Given the description of an element on the screen output the (x, y) to click on. 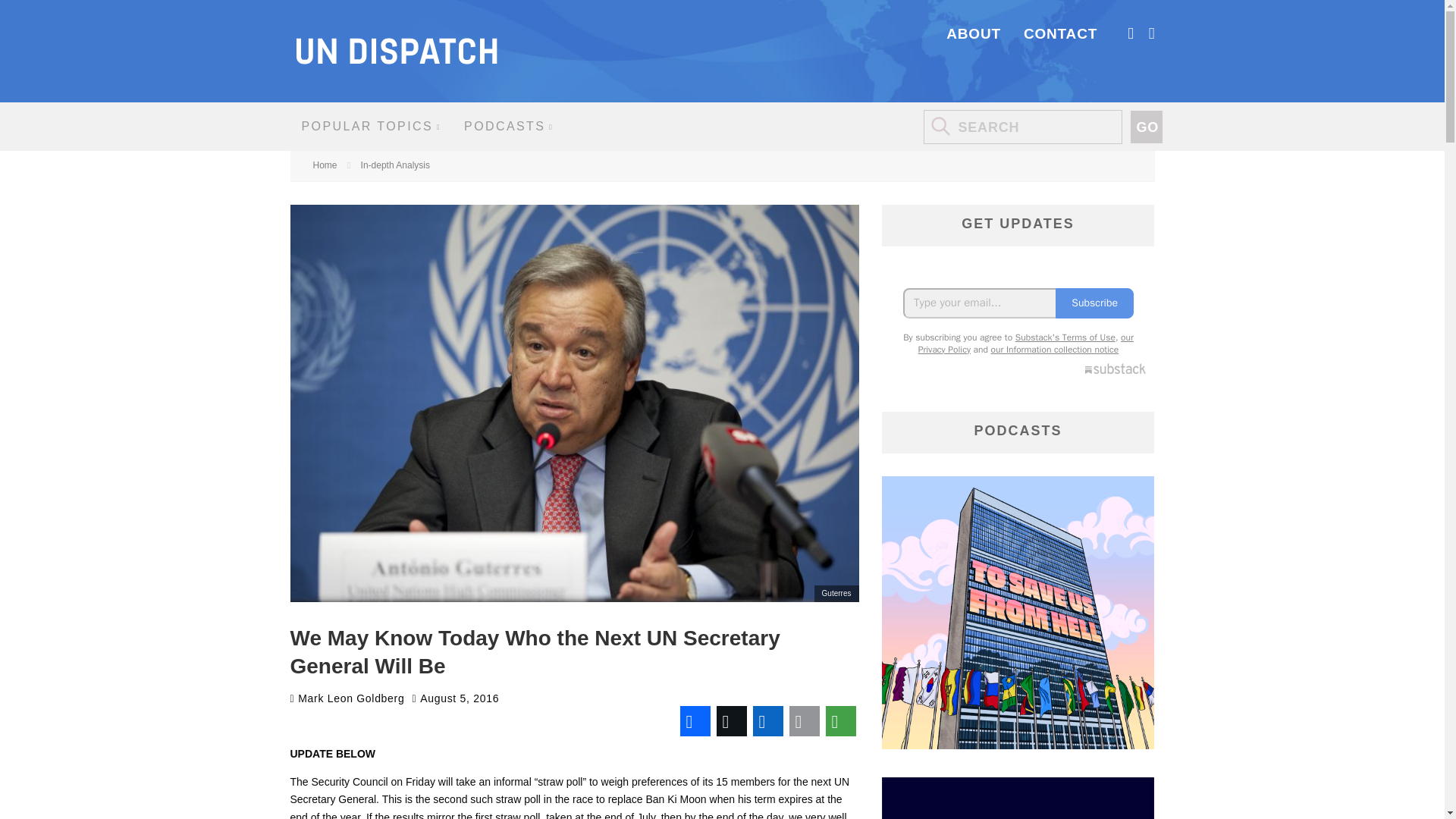
More Options (840, 720)
Home (324, 164)
In-depth Analysis (395, 164)
Go (1145, 126)
ABOUT (973, 33)
Go (1145, 126)
Go (1145, 126)
Email This (804, 720)
CONTACT (1060, 33)
POPULAR TOPICS (370, 126)
Facebook (695, 720)
LinkedIn (767, 720)
Mark Leon Goldberg (346, 698)
PODCASTS (508, 126)
